Given the description of an element on the screen output the (x, y) to click on. 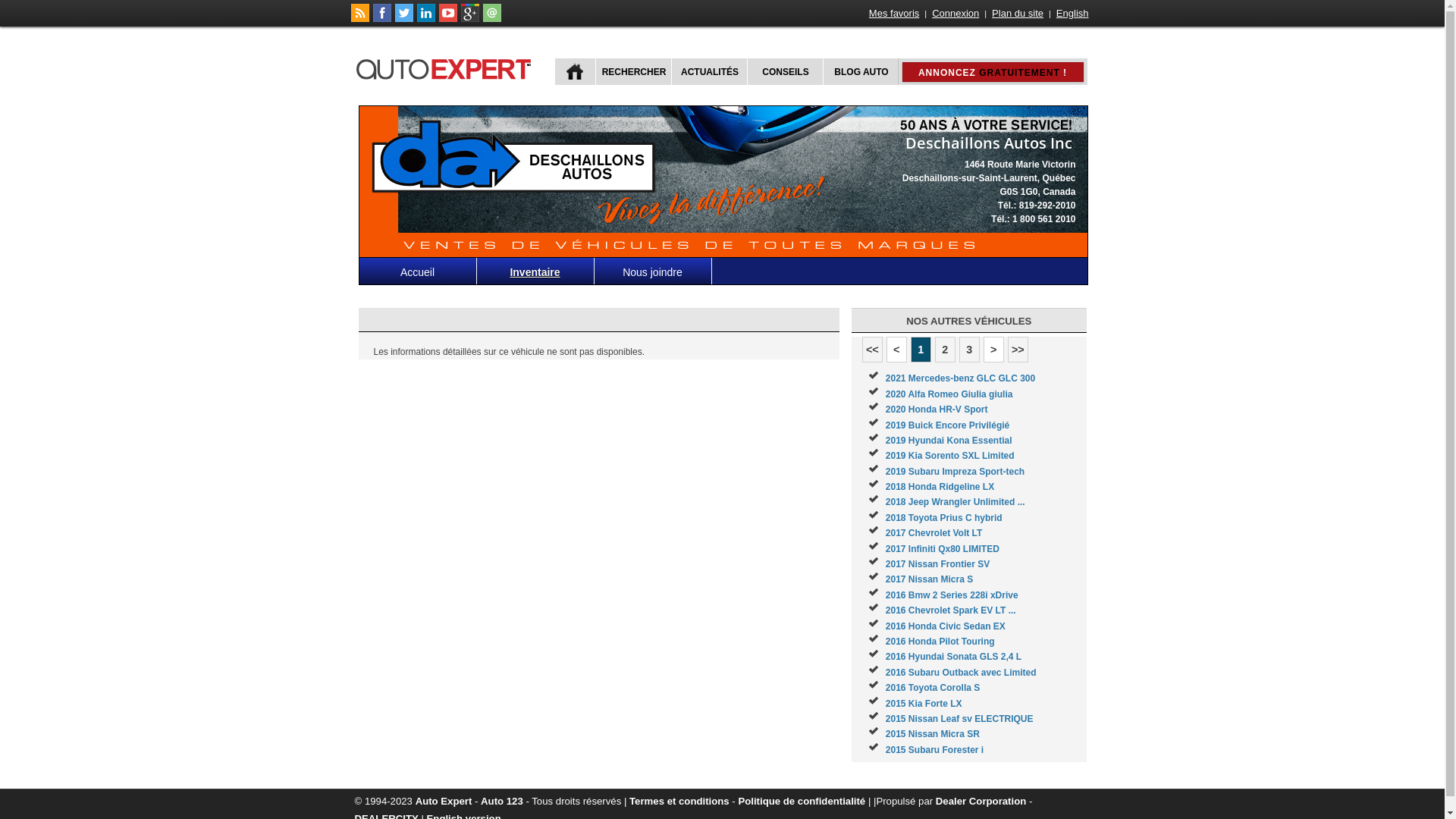
2015 Nissan Leaf sv ELECTRIQUE Element type: text (959, 718)
Suivez autoExpert.ca sur Google Plus Element type: hover (470, 18)
Termes et conditions Element type: text (679, 800)
2015 Nissan Micra SR Element type: text (932, 733)
2016 Bmw 2 Series 228i xDrive Element type: text (951, 594)
2019 Kia Sorento SXL Limited Element type: text (949, 455)
Mes favoris Element type: text (893, 13)
2017 Chevrolet Volt LT Element type: text (933, 532)
2016 Chevrolet Spark EV LT ... Element type: text (950, 610)
2021 Mercedes-benz GLC GLC 300 Element type: text (960, 378)
3 Element type: text (969, 349)
Connexion Element type: text (955, 13)
Joindre autoExpert.ca Element type: hover (491, 18)
Accueil Element type: text (417, 270)
2020 Alfa Romeo Giulia giulia Element type: text (949, 394)
>> Element type: text (1017, 349)
Suivez autoExpert.ca sur Youtube Element type: hover (447, 18)
Suivez Publications Le Guide Inc. sur LinkedIn Element type: hover (426, 18)
2017 Nissan Micra S Element type: text (928, 579)
Suivez autoExpert.ca sur Twitter Element type: hover (403, 18)
< Element type: text (896, 349)
Inventaire Element type: text (534, 270)
2017 Nissan Frontier SV Element type: text (937, 563)
2016 Hyundai Sonata GLS 2,4 L Element type: text (953, 656)
2018 Jeep Wrangler Unlimited ... Element type: text (955, 501)
2019 Hyundai Kona Essential Element type: text (948, 440)
2018 Toyota Prius C hybrid Element type: text (943, 517)
2015 Subaru Forester i Element type: text (934, 749)
ANNONCEZ GRATUITEMENT ! Element type: text (992, 71)
<< Element type: text (872, 349)
RECHERCHER Element type: text (631, 71)
> Element type: text (993, 349)
2 Element type: text (945, 349)
2016 Subaru Outback avec Limited Element type: text (960, 672)
2018 Honda Ridgeline LX Element type: text (939, 486)
Auto Expert Element type: text (443, 800)
2016 Honda Pilot Touring Element type: text (939, 641)
ACCUEIL Element type: text (575, 71)
BLOG AUTO Element type: text (859, 71)
1 Element type: text (920, 349)
English Element type: text (1072, 13)
2015 Kia Forte LX Element type: text (923, 703)
Dealer Corporation Element type: text (980, 800)
2016 Honda Civic Sedan EX Element type: text (945, 626)
2017 Infiniti Qx80 LIMITED Element type: text (942, 548)
Suivez autoExpert.ca sur Facebook Element type: hover (382, 18)
autoExpert.ca Element type: text (446, 66)
2019 Subaru Impreza Sport-tech Element type: text (954, 471)
2020 Honda HR-V Sport Element type: text (936, 409)
Auto 123 Element type: text (501, 800)
Plan du site Element type: text (1017, 13)
Nous joindre Element type: text (653, 270)
2016 Toyota Corolla S Element type: text (932, 687)
CONSEILS Element type: text (783, 71)
